Given the description of an element on the screen output the (x, y) to click on. 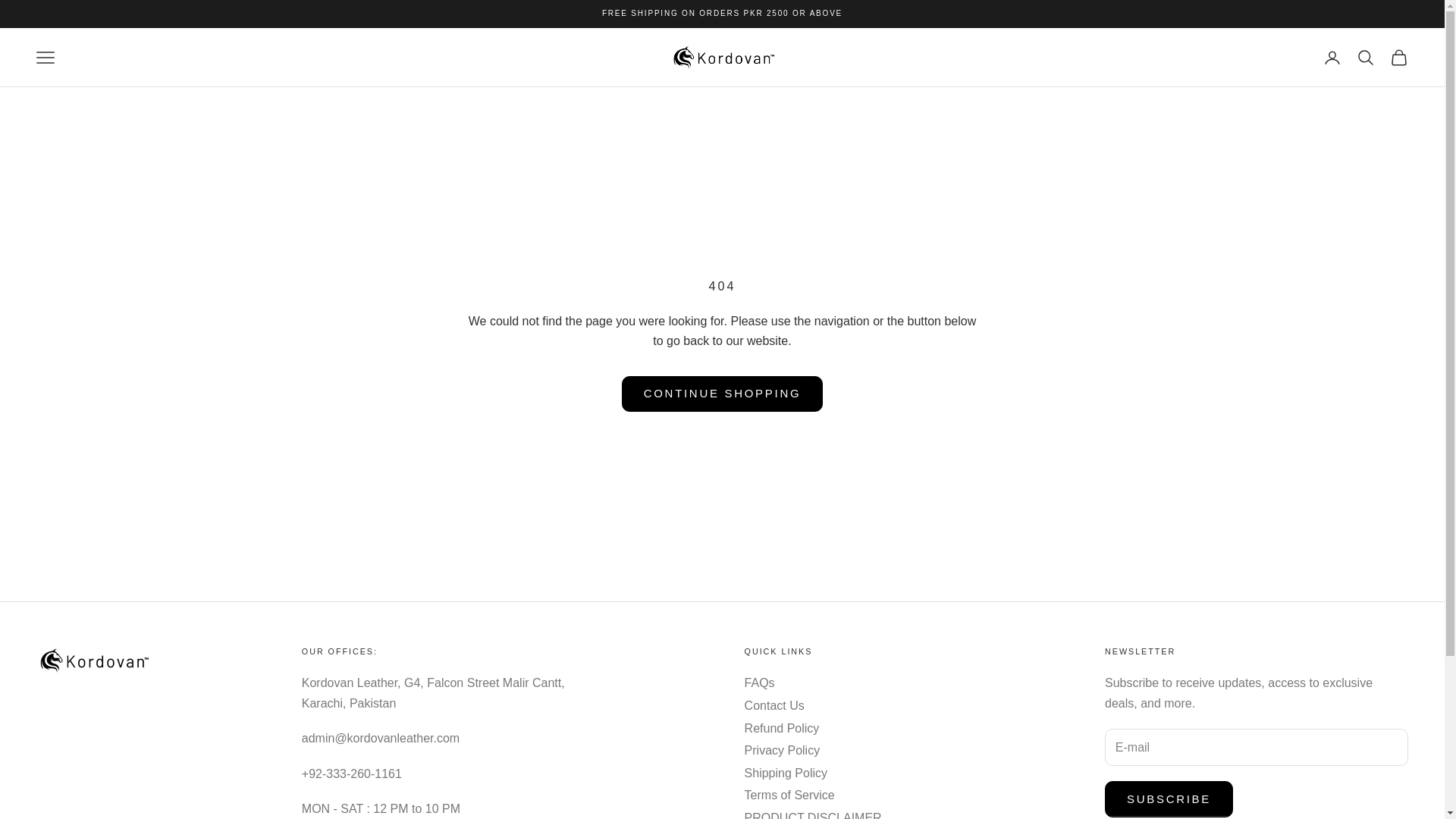
Open account page (1331, 57)
Open search (1365, 57)
Open cart (1398, 57)
Kordovan (721, 57)
Open navigation menu (45, 57)
FAQs (759, 682)
Shipping Policy (785, 772)
Contact Us (774, 705)
SUBSCRIBE (1169, 799)
Privacy Policy (782, 749)
Refund Policy (781, 727)
Terms of Service (789, 794)
CONTINUE SHOPPING (722, 393)
PRODUCT DISCLAIMER (813, 815)
